Given the description of an element on the screen output the (x, y) to click on. 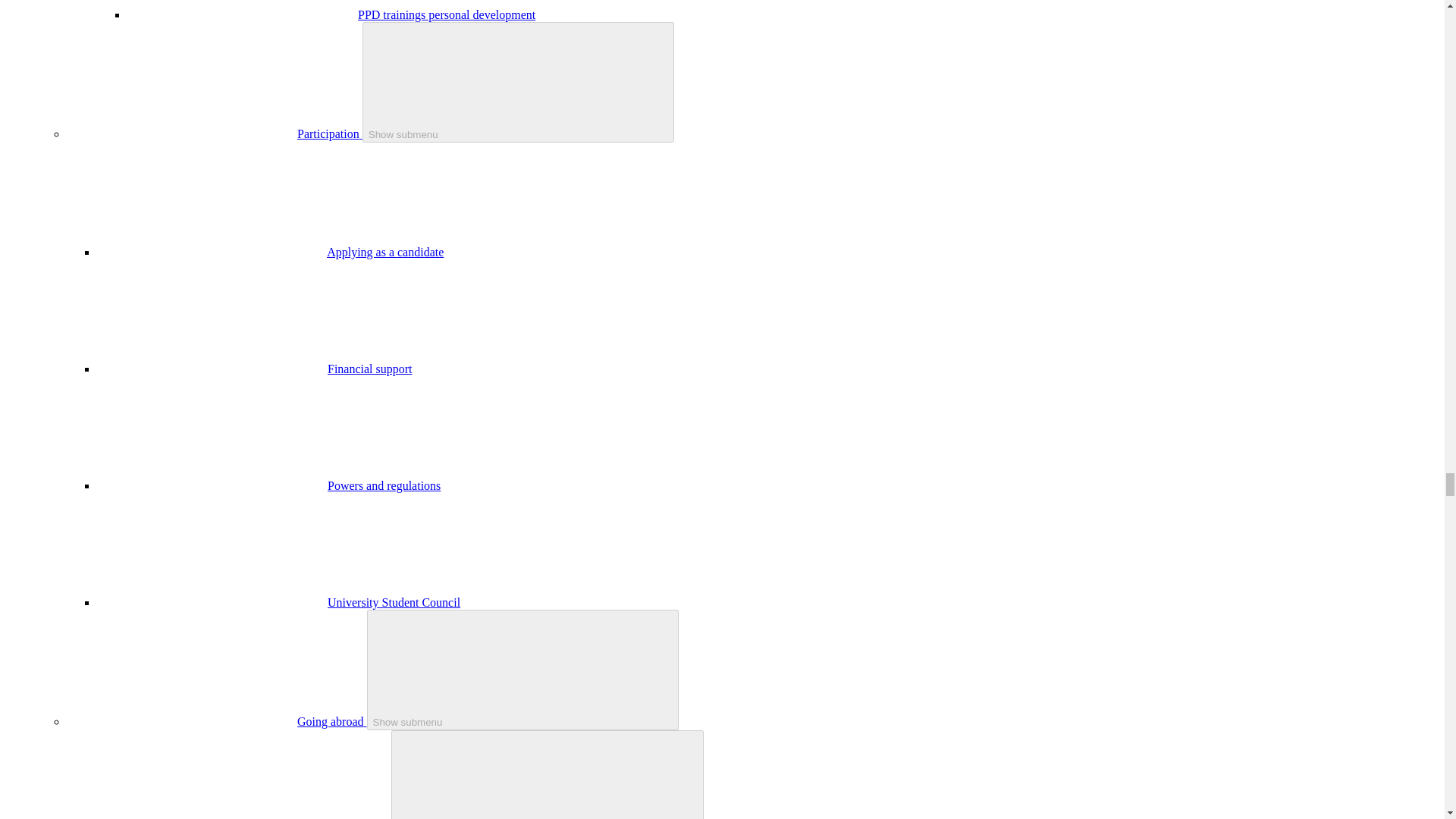
Going abroad (331, 721)
